Given the description of an element on the screen output the (x, y) to click on. 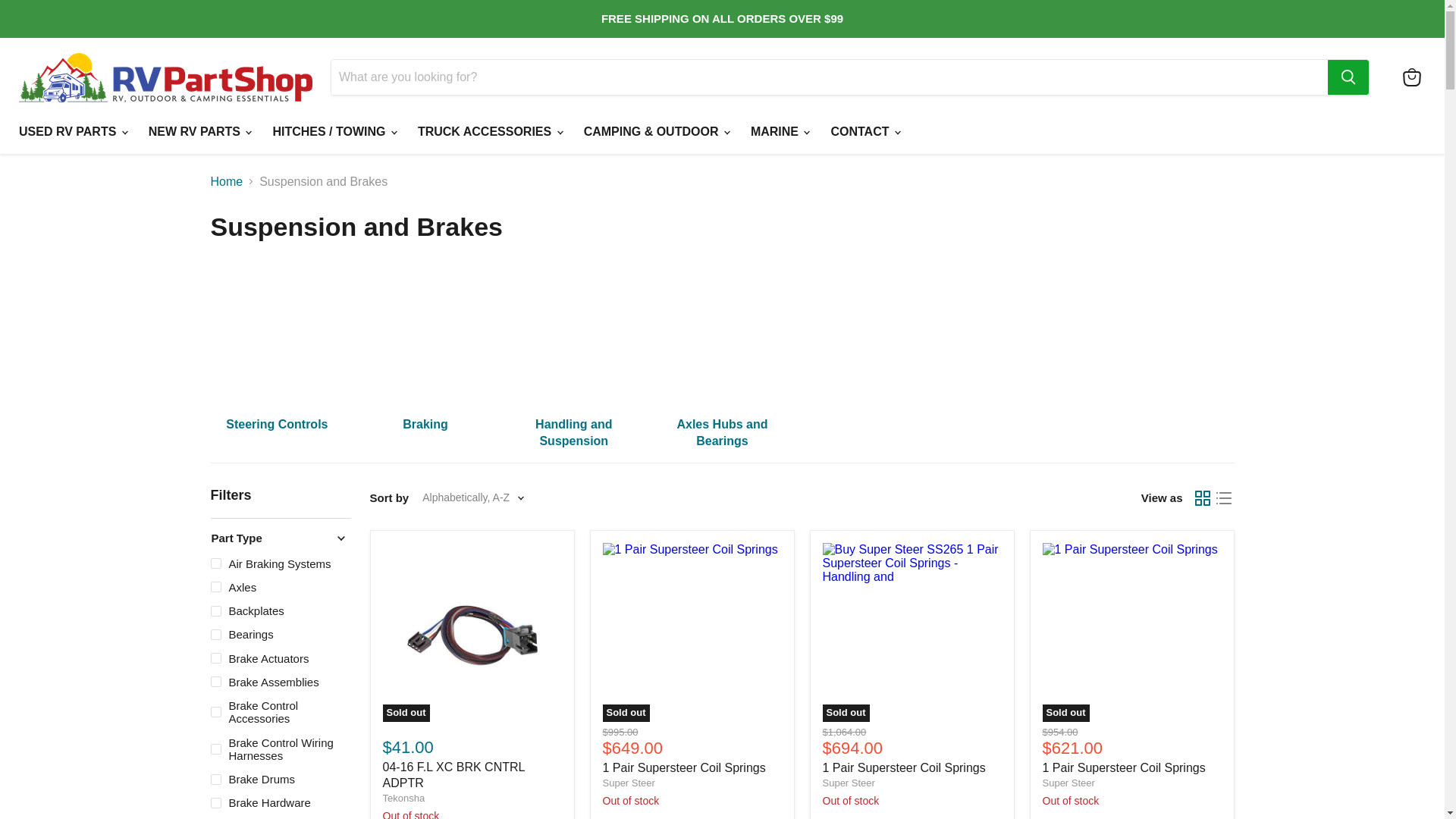
View cart (1411, 77)
